Given the description of an element on the screen output the (x, y) to click on. 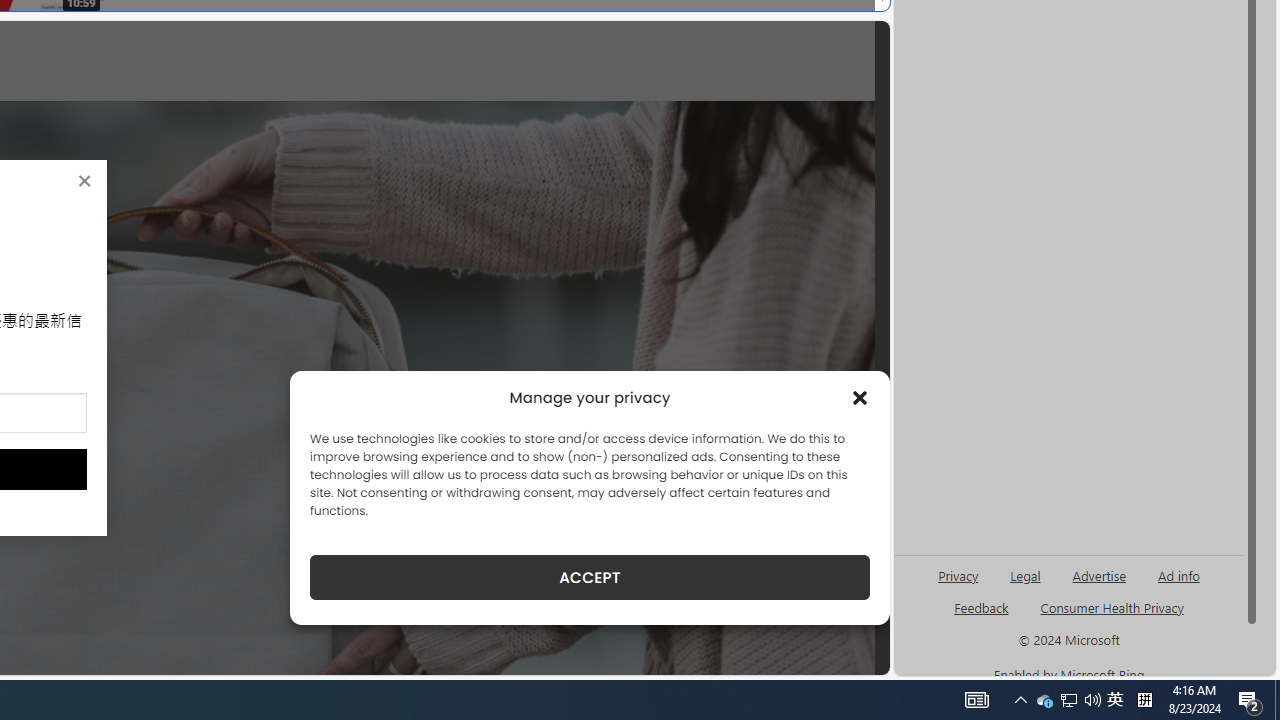
AutomationID: genId96 (981, 615)
Class: cmplz-close (859, 398)
ACCEPT (589, 577)
AutomationID: sb_feedback (980, 607)
